Given the description of an element on the screen output the (x, y) to click on. 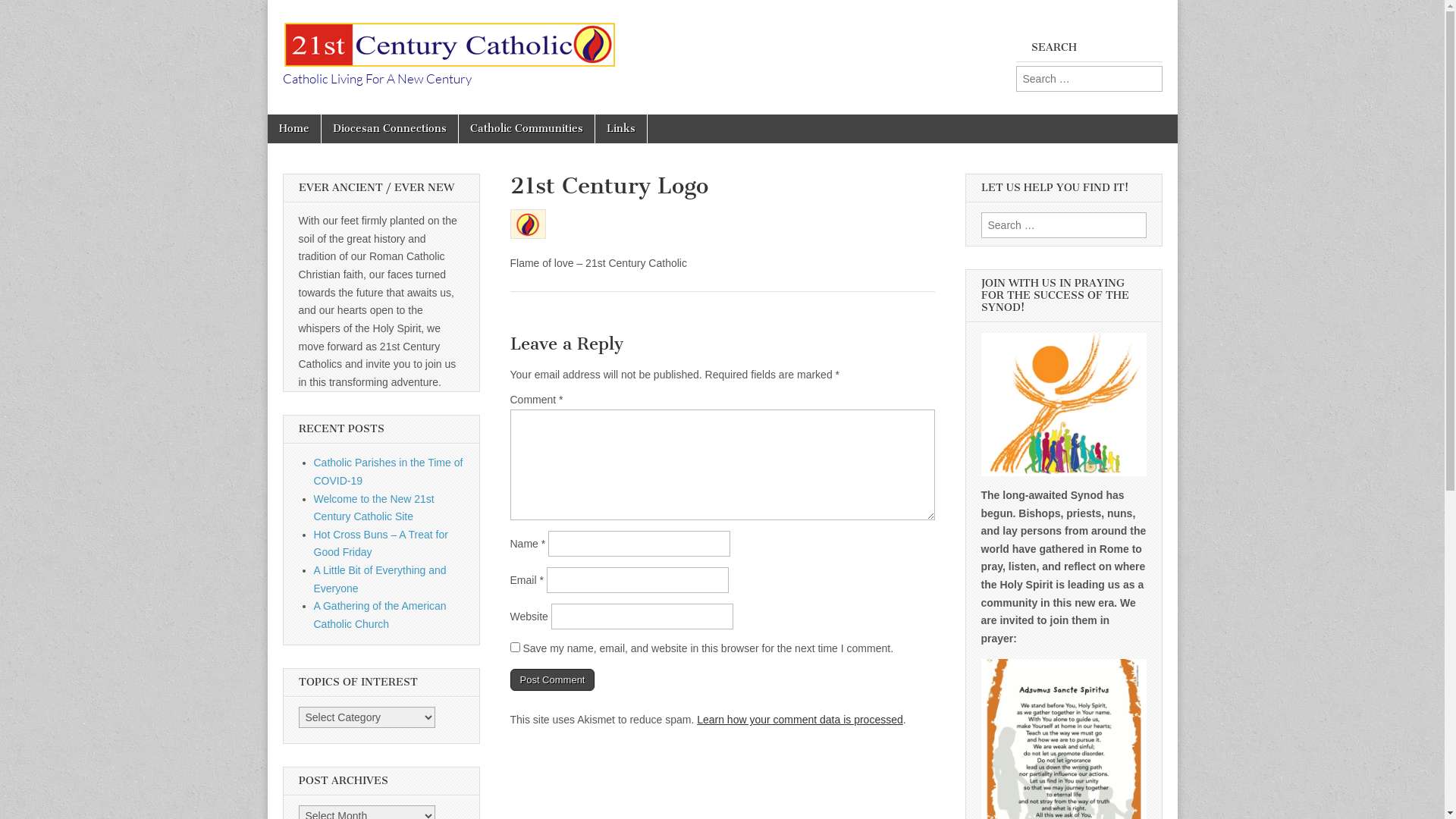
Search Element type: text (23, 12)
Catholic Parishes in the Time of COVID-19 Element type: text (388, 471)
Learn how your comment data is processed Element type: text (799, 719)
A Gathering of the American Catholic Church Element type: text (379, 614)
21st Century Catholic Element type: text (483, 113)
Post Comment Element type: text (551, 679)
Diocesan Connections Element type: text (389, 128)
Welcome to the New 21st Century Catholic Site Element type: text (373, 507)
Home Element type: text (293, 128)
A Little Bit of Everything and Everyone Element type: text (379, 579)
Skip to content Element type: text (266, 113)
Links Element type: text (620, 128)
21st Century Catholic Element type: hover (447, 36)
Catholic Communities Element type: text (525, 128)
